Given the description of an element on the screen output the (x, y) to click on. 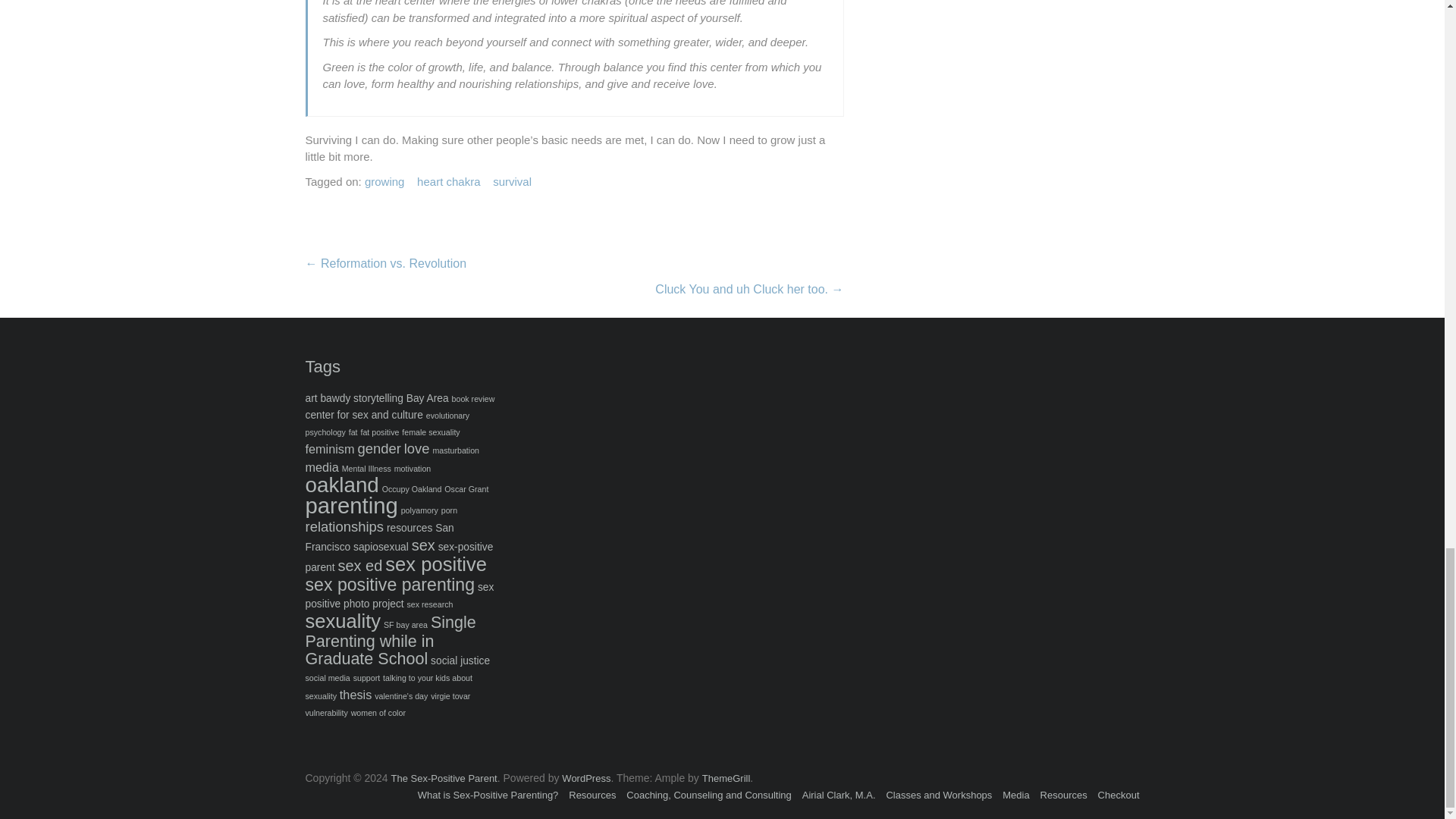
heart chakra (448, 181)
growing (384, 181)
survival (512, 181)
